Given the description of an element on the screen output the (x, y) to click on. 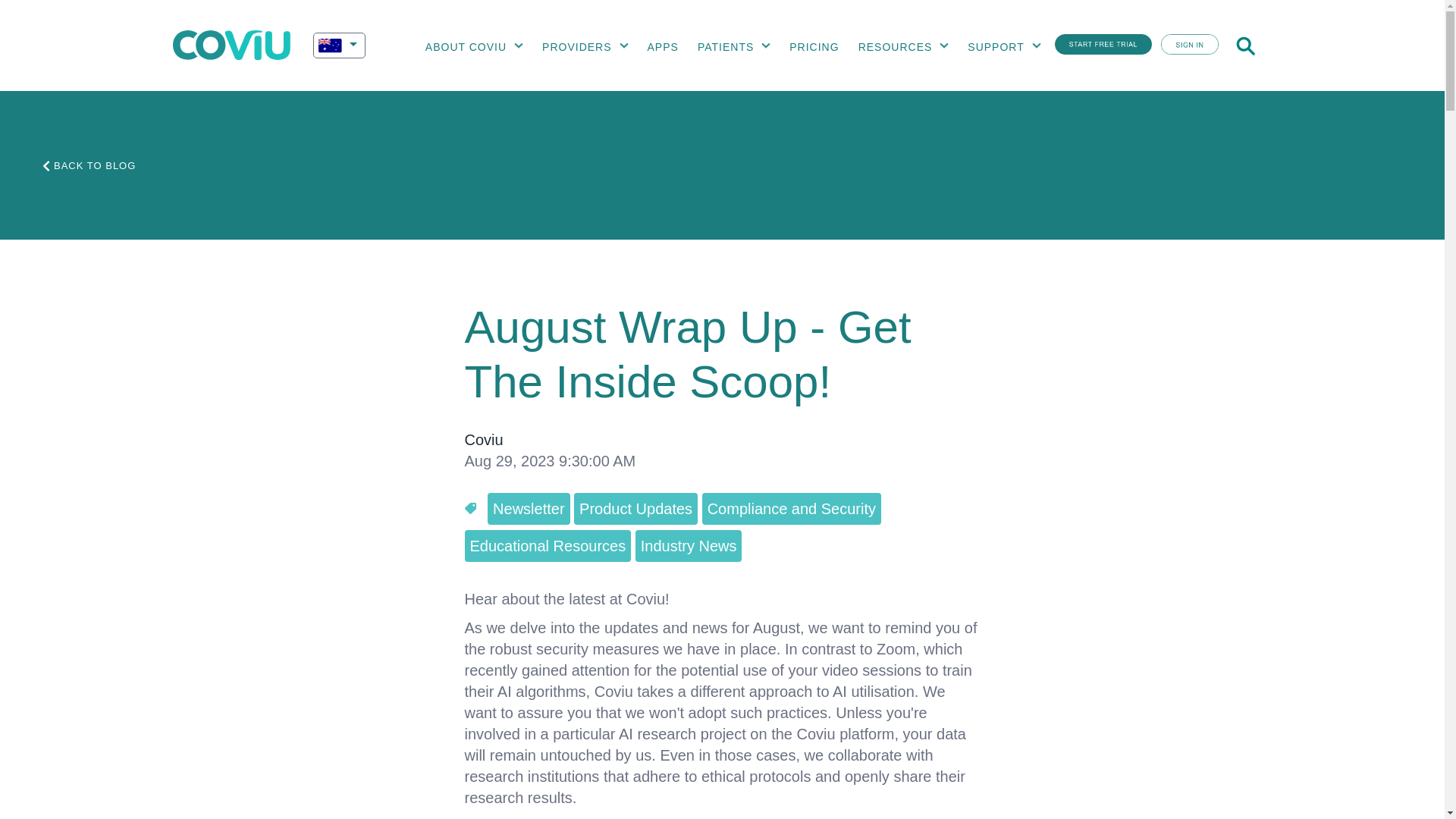
APPS (662, 46)
ABOUT COVIU (464, 46)
SUPPORT (995, 46)
PROVIDERS (576, 46)
RESOURCES (895, 46)
PATIENTS (724, 46)
PRICING (814, 46)
Coviu Global Pty Ltd logo (231, 45)
